Given the description of an element on the screen output the (x, y) to click on. 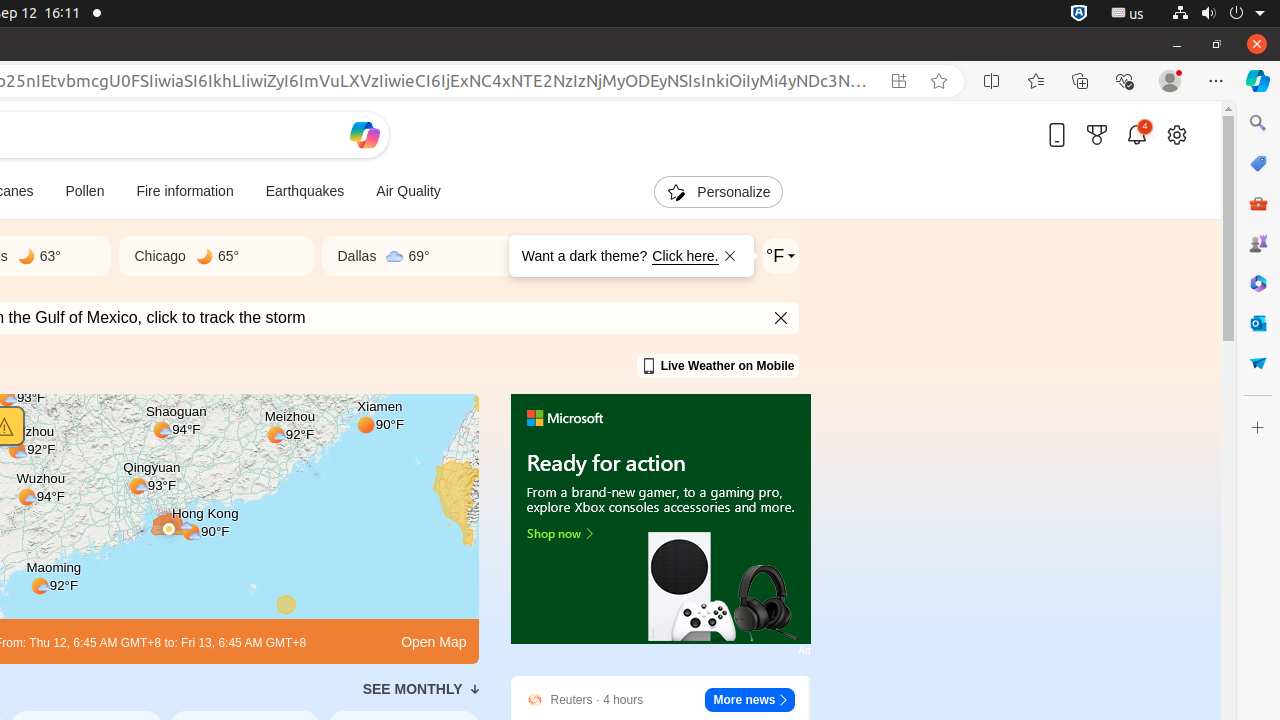
Hide Element type: push-button (782, 318)
Split screen Element type: push-button (992, 81)
